Given the description of an element on the screen output the (x, y) to click on. 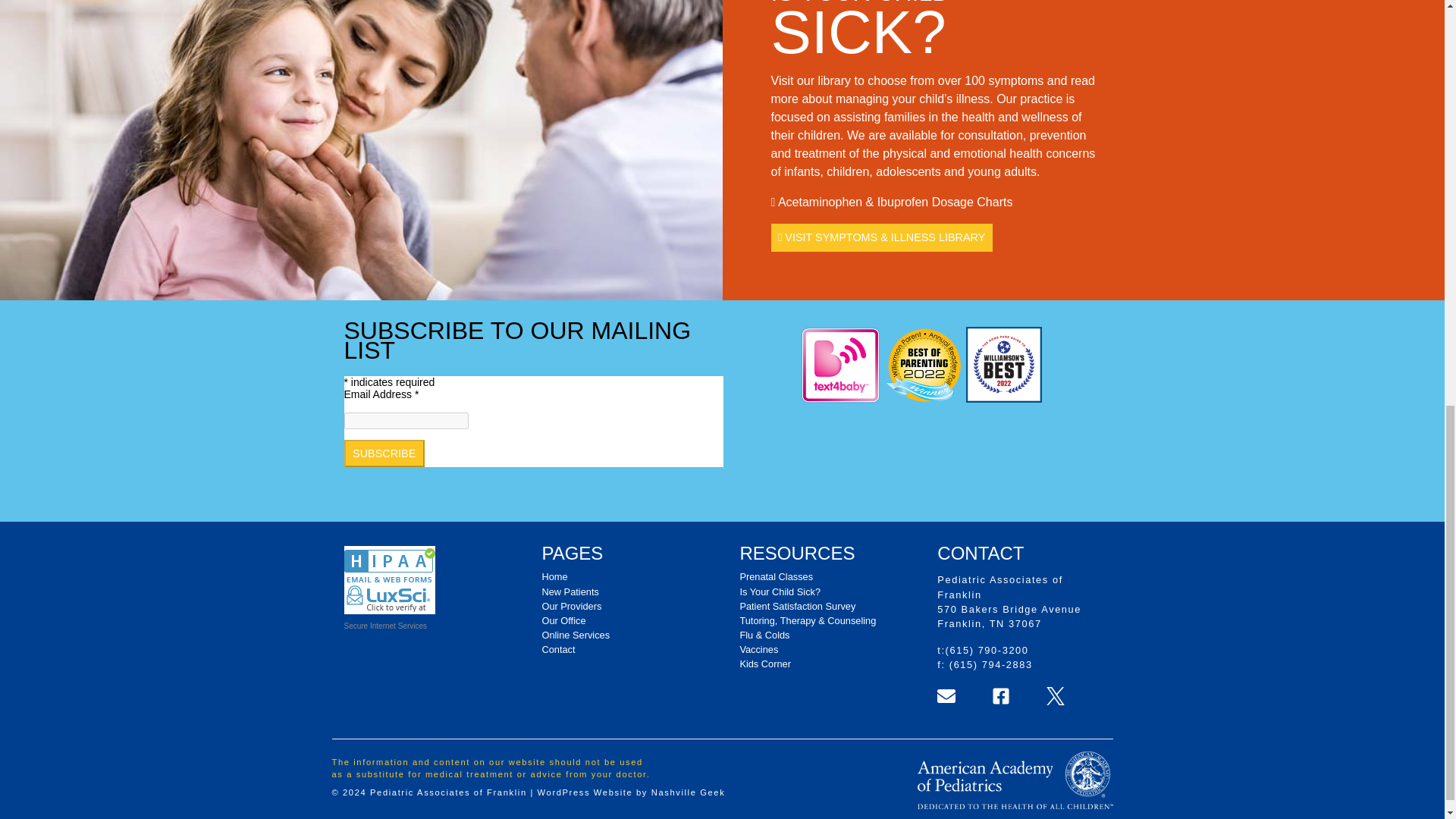
Subscribe (384, 452)
Subscribe (384, 452)
